Given the description of an element on the screen output the (x, y) to click on. 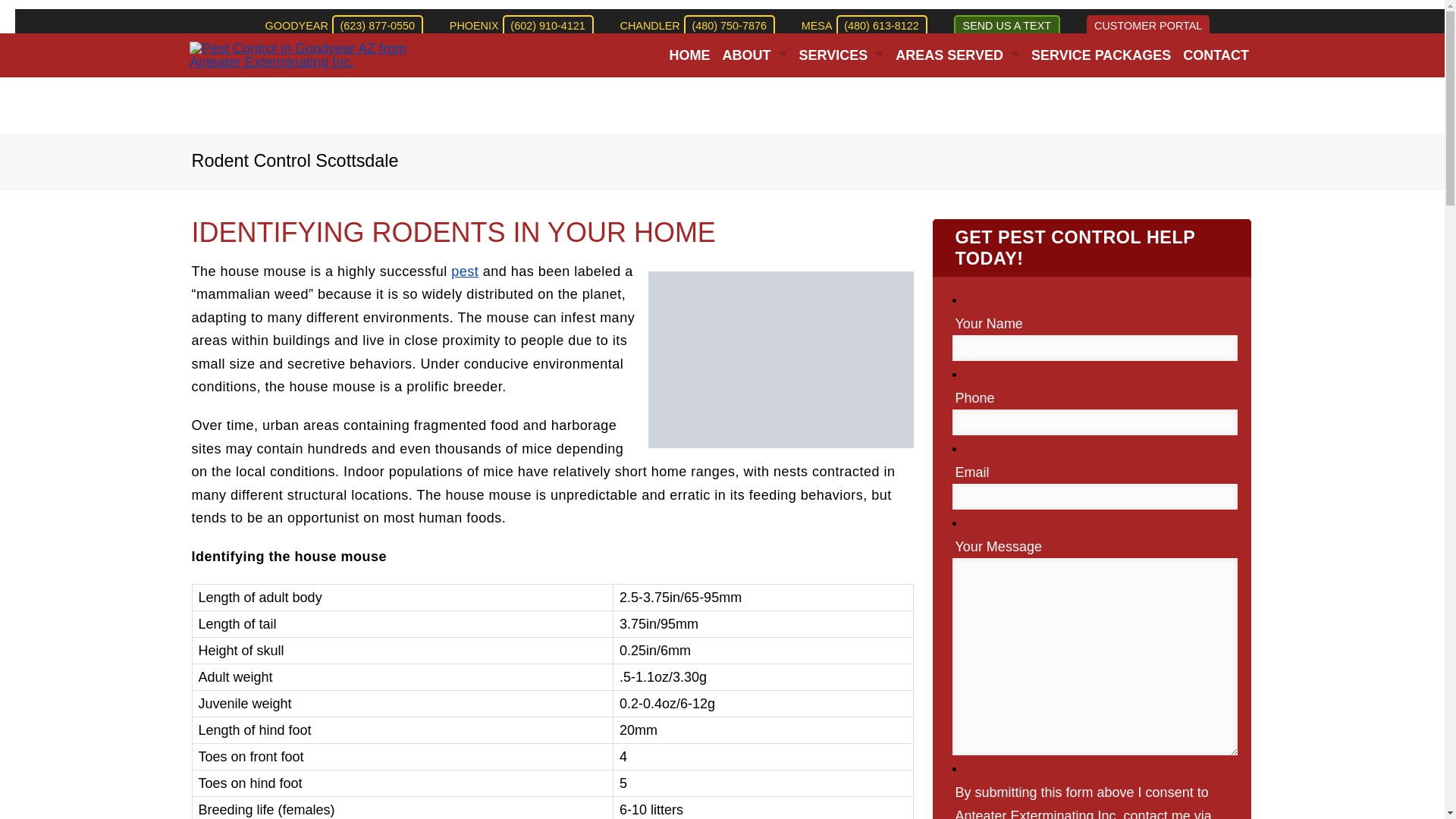
GOPHER CONTROL (922, 380)
SERVICES (841, 54)
ROOF RAT CONTROL (922, 466)
FAQ (845, 121)
HOME (689, 54)
BEE EXTERMINATOR (922, 265)
BED BUG TREATMENT (922, 235)
ABOUT (845, 92)
PEST PROOF YOUR PROPERTY (922, 92)
FLY CONTROL (922, 351)
BLOG (845, 149)
SCORPION CONTROL (922, 495)
TERMITE CONTROL (922, 553)
ANT CONTROL (922, 207)
ABOUT (754, 54)
